Given the description of an element on the screen output the (x, y) to click on. 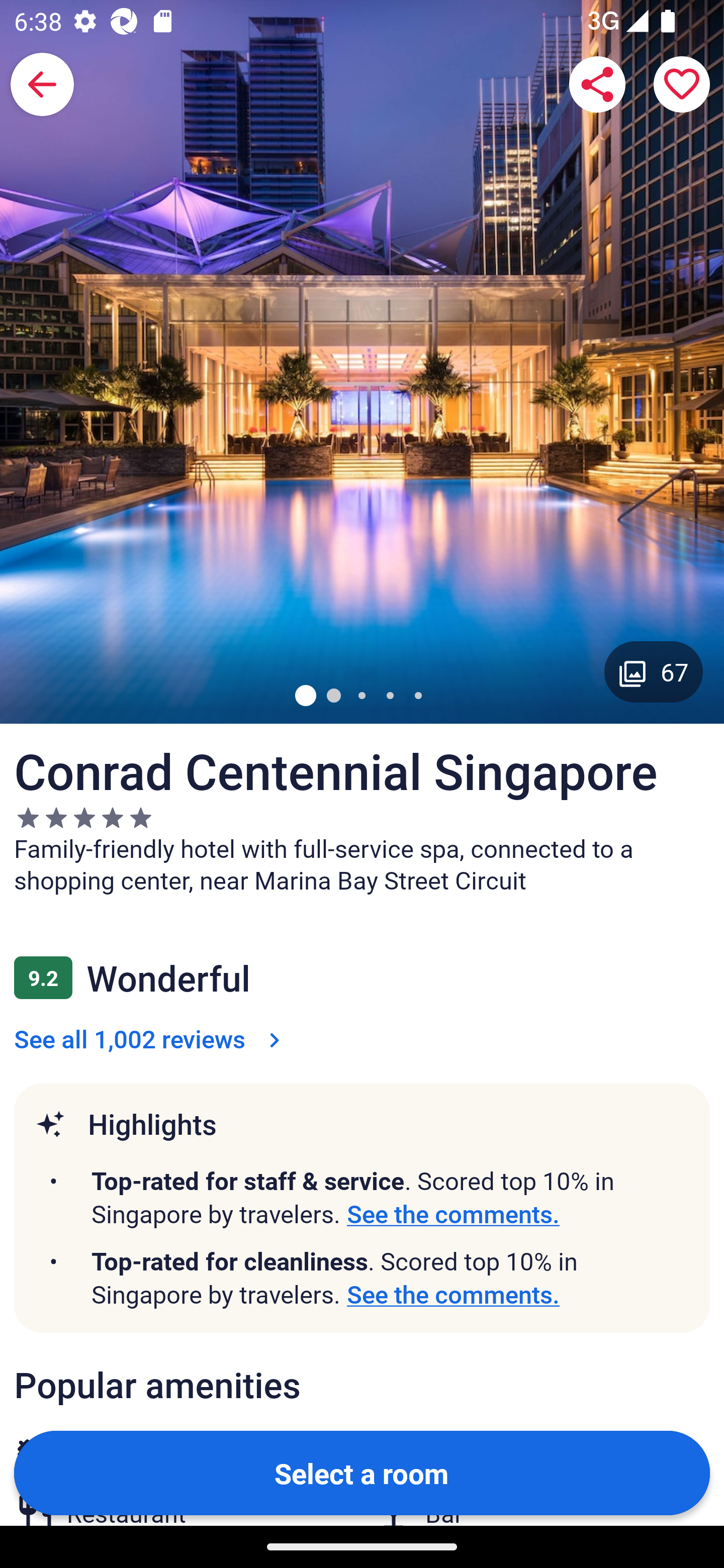
Back (42, 84)
Save property to a trip (681, 84)
Share Conrad Centennial Singapore (597, 84)
Gallery button with 67 images (653, 671)
See all 1,002 reviews See all 1,002 reviews Link (150, 1038)
Select a room Button Select a room (361, 1472)
